Given the description of an element on the screen output the (x, y) to click on. 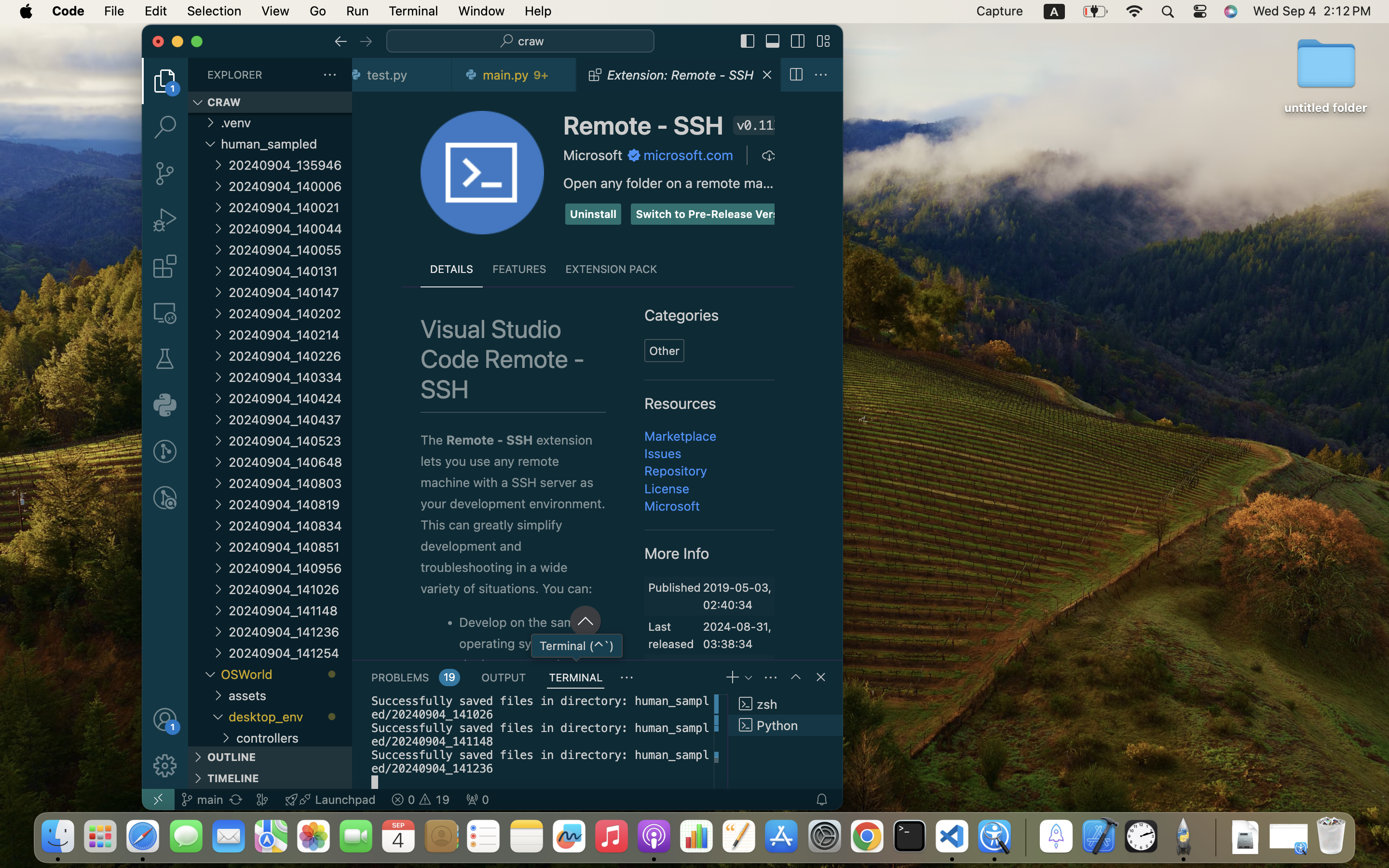
main  Element type: AXButton (201, 799)
.venv Element type: AXGroup (286, 122)
zsh  Element type: AXGroup (785, 703)
0  Element type: AXRadioButton (164, 219)
 Element type: AXGroup (164, 719)
